Given the description of an element on the screen output the (x, y) to click on. 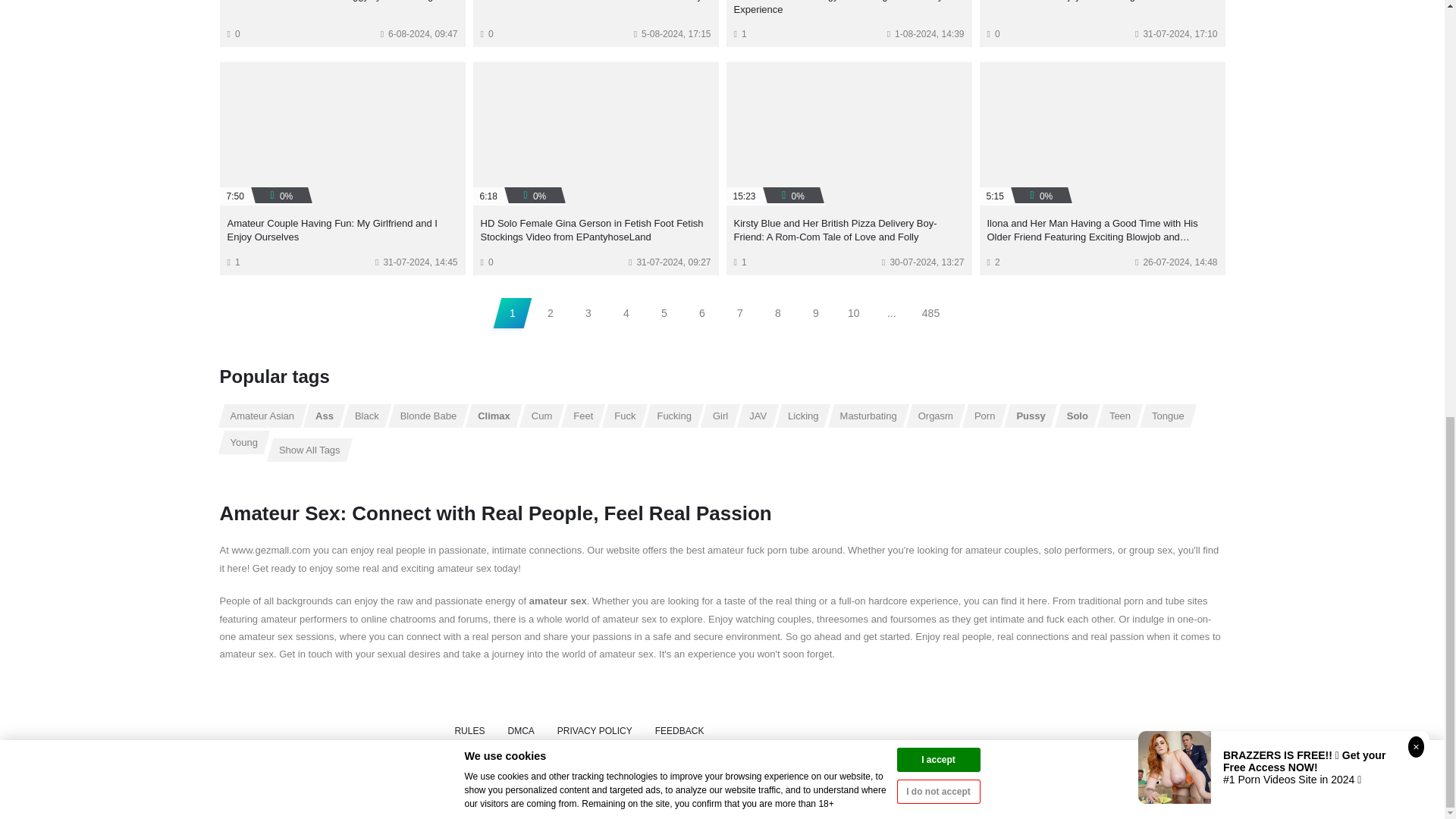
Publication found: 264 (868, 415)
Publication found: 201 (757, 415)
Publication found: 802 (1030, 415)
Publication found: 310 (583, 415)
Publication found: 691 (493, 415)
Publication found: 214 (262, 415)
Publication found: 400 (984, 415)
Publication found: 385 (673, 415)
Publication found: 252 (367, 415)
Publication found: 204 (428, 415)
